Given the description of an element on the screen output the (x, y) to click on. 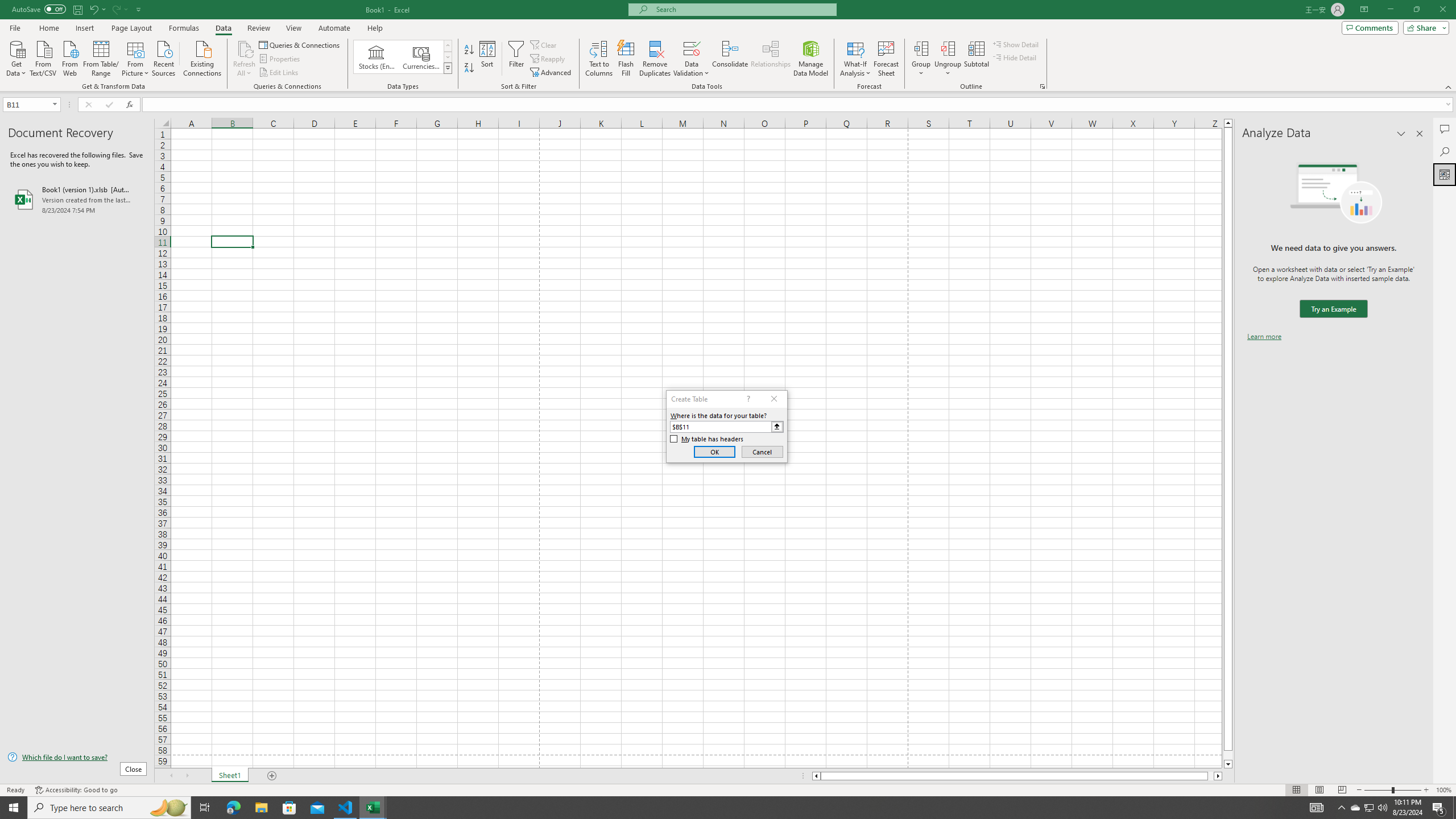
Consolidate... (729, 58)
